Given the description of an element on the screen output the (x, y) to click on. 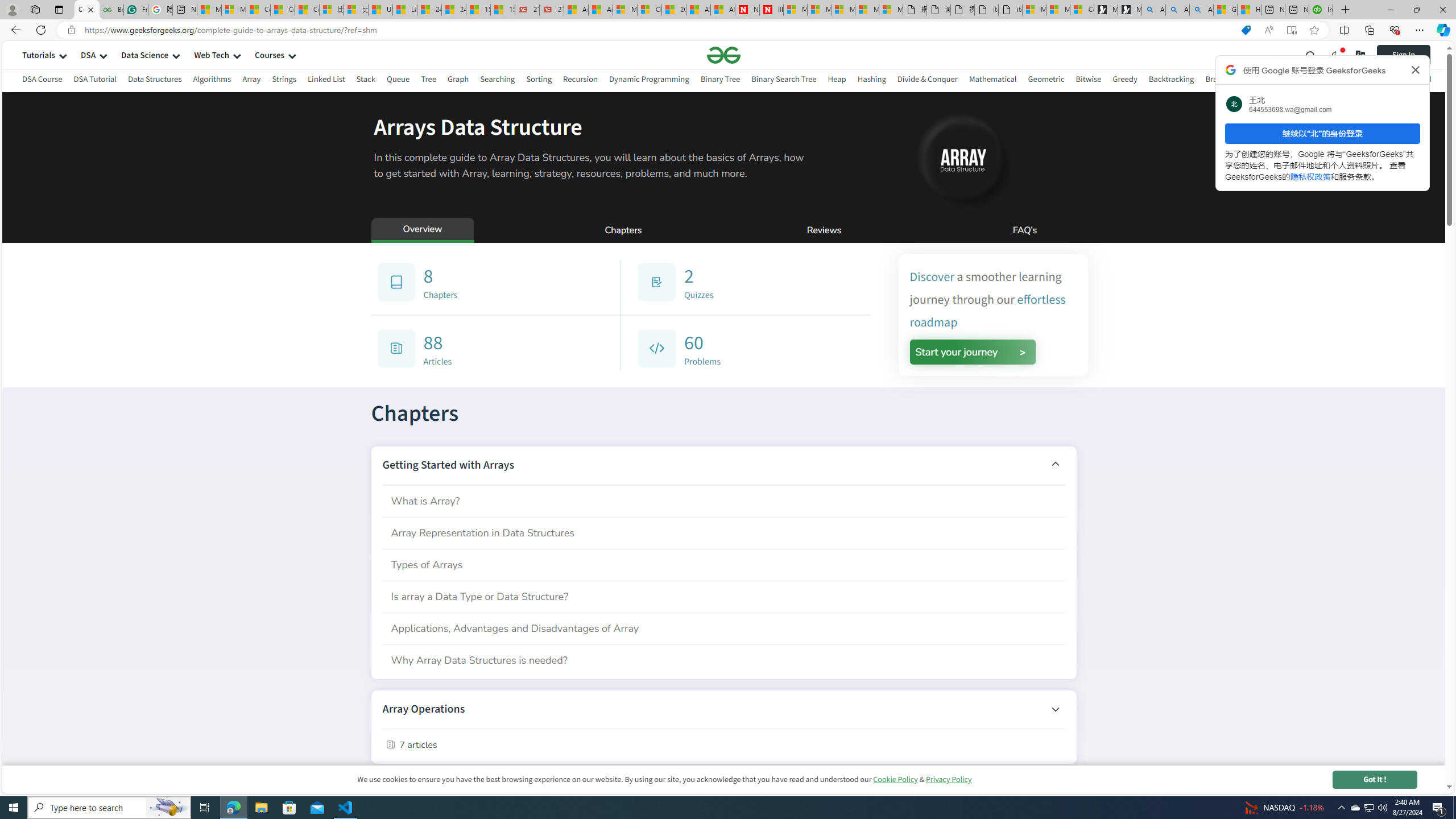
itconcepthk.com/projector_solutions.mp4 (1009, 9)
Tree (428, 79)
Is array a Data Type or Data Structure? (723, 596)
Dynamic Programming (648, 80)
Randomized (1409, 80)
Sorting (538, 80)
Mathematical (992, 79)
DSA Course (42, 79)
Graph (457, 79)
How to Use a TV as a Computer Monitor (1248, 9)
